Given the description of an element on the screen output the (x, y) to click on. 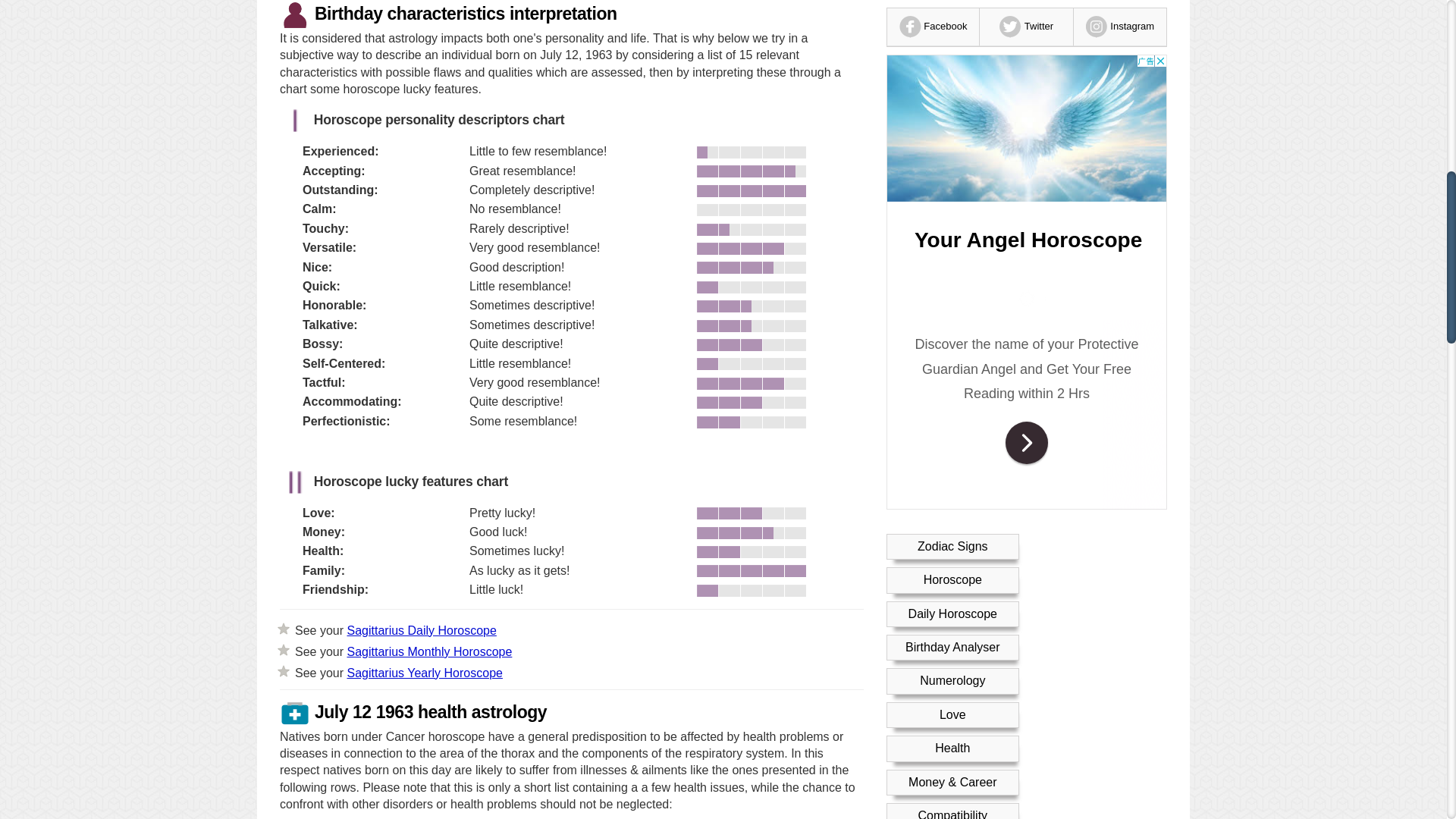
Compatibility (952, 40)
Sagittarius Horoscope 2025: Key Yearly Predictions (424, 671)
Sagittarius Daily Horoscope (421, 629)
Sagittarius August 2024 Monthly Horoscope (429, 650)
